Given the description of an element on the screen output the (x, y) to click on. 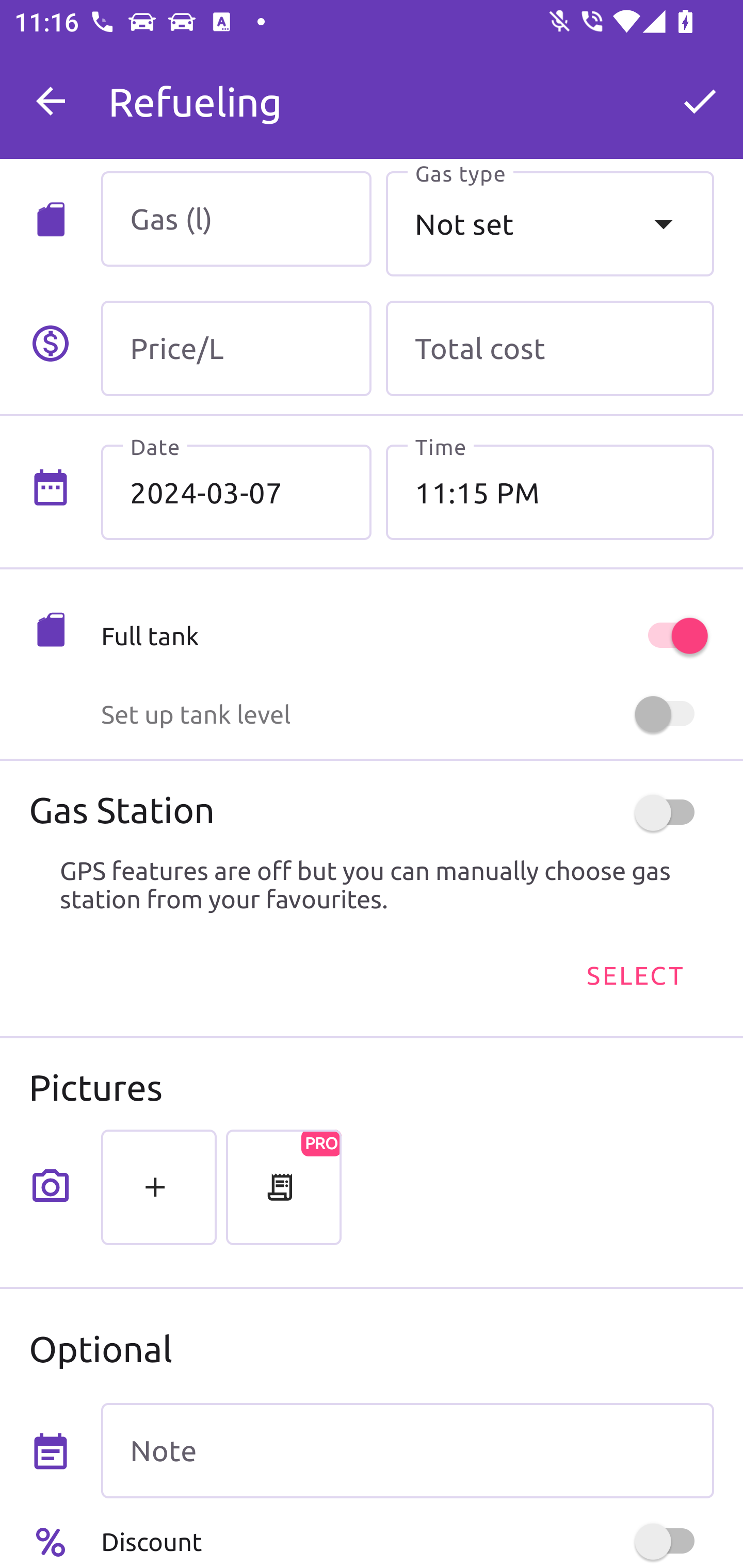
A No name 0 km (407, 92)
Navigate up (50, 101)
OK (699, 101)
Gas (l) (236, 218)
Not set (549, 222)
Price/L (236, 348)
Total cost  (549, 348)
2024-03-07 (236, 492)
11:15 PM (549, 492)
Full tank (407, 635)
Set up tank level (407, 713)
SELECT (634, 974)
Note (407, 1451)
Discount (407, 1541)
